Given the description of an element on the screen output the (x, y) to click on. 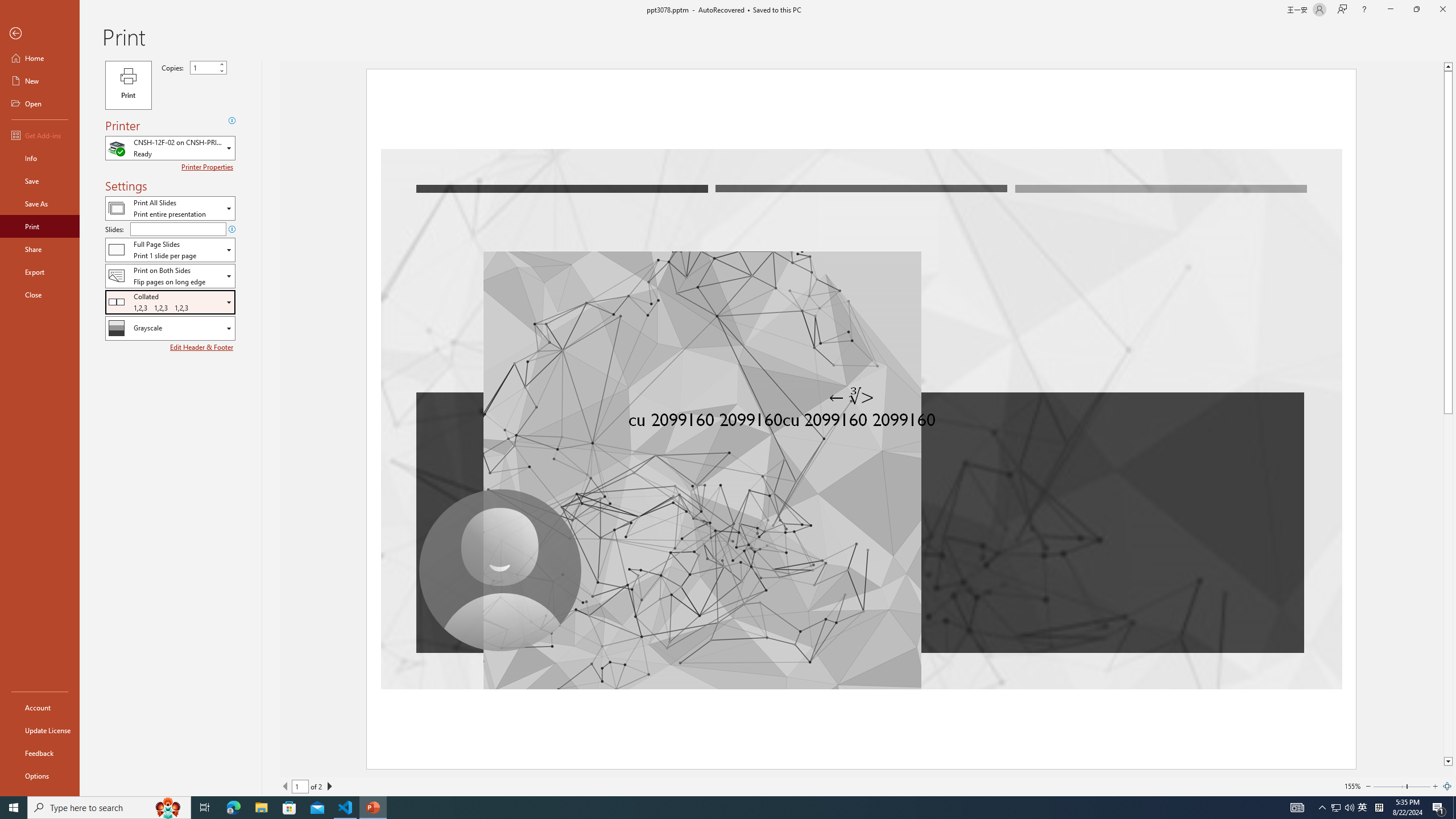
Previous Page (285, 786)
Export (40, 271)
Save As (40, 203)
Copies (203, 67)
Two-Sided Printing (169, 275)
Get Add-ins (40, 134)
Print What (169, 208)
Info (40, 157)
